Given the description of an element on the screen output the (x, y) to click on. 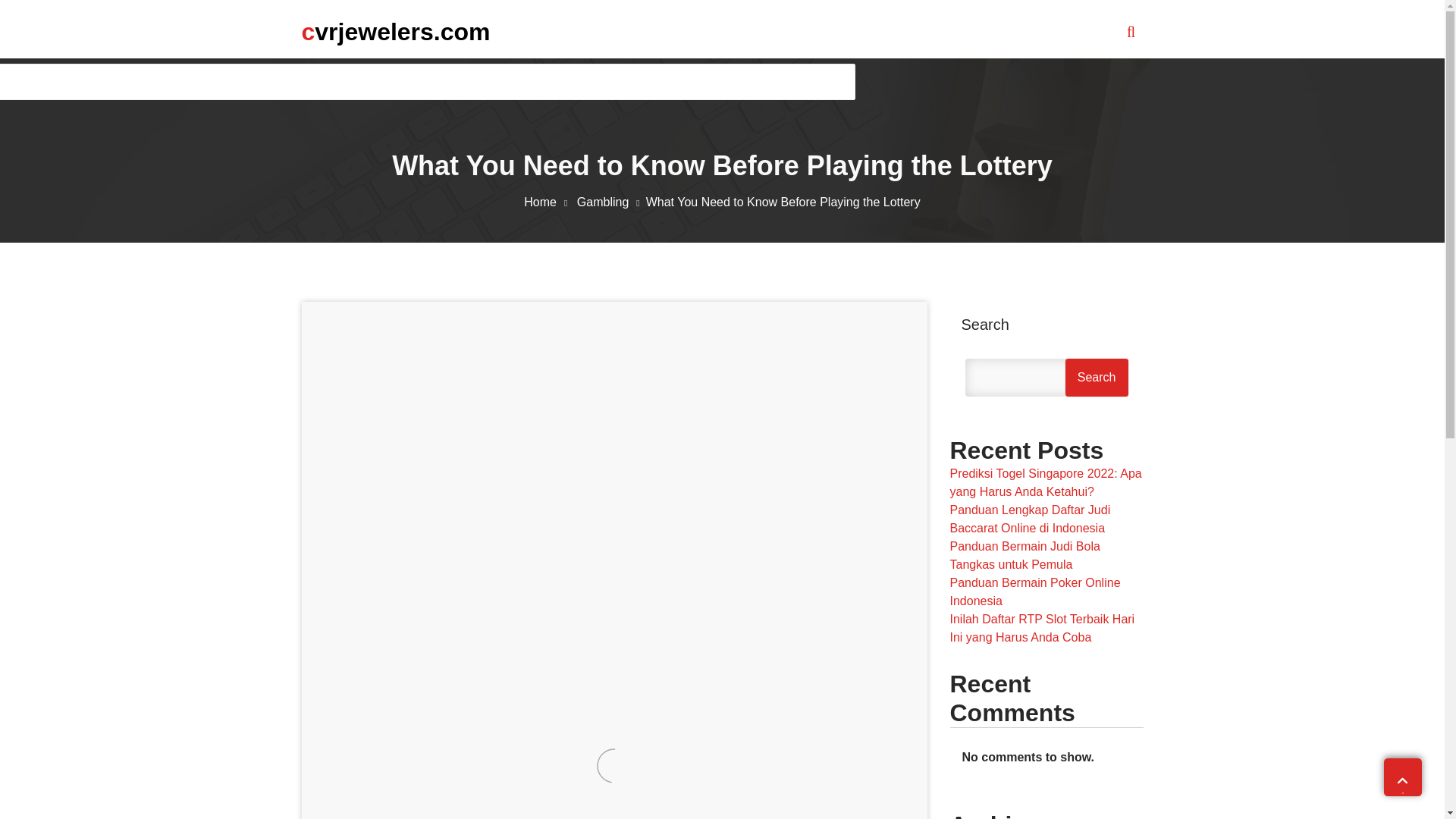
Home (548, 201)
cvrjewelers.com (395, 31)
Gambling (611, 201)
Search (1096, 377)
